Given the description of an element on the screen output the (x, y) to click on. 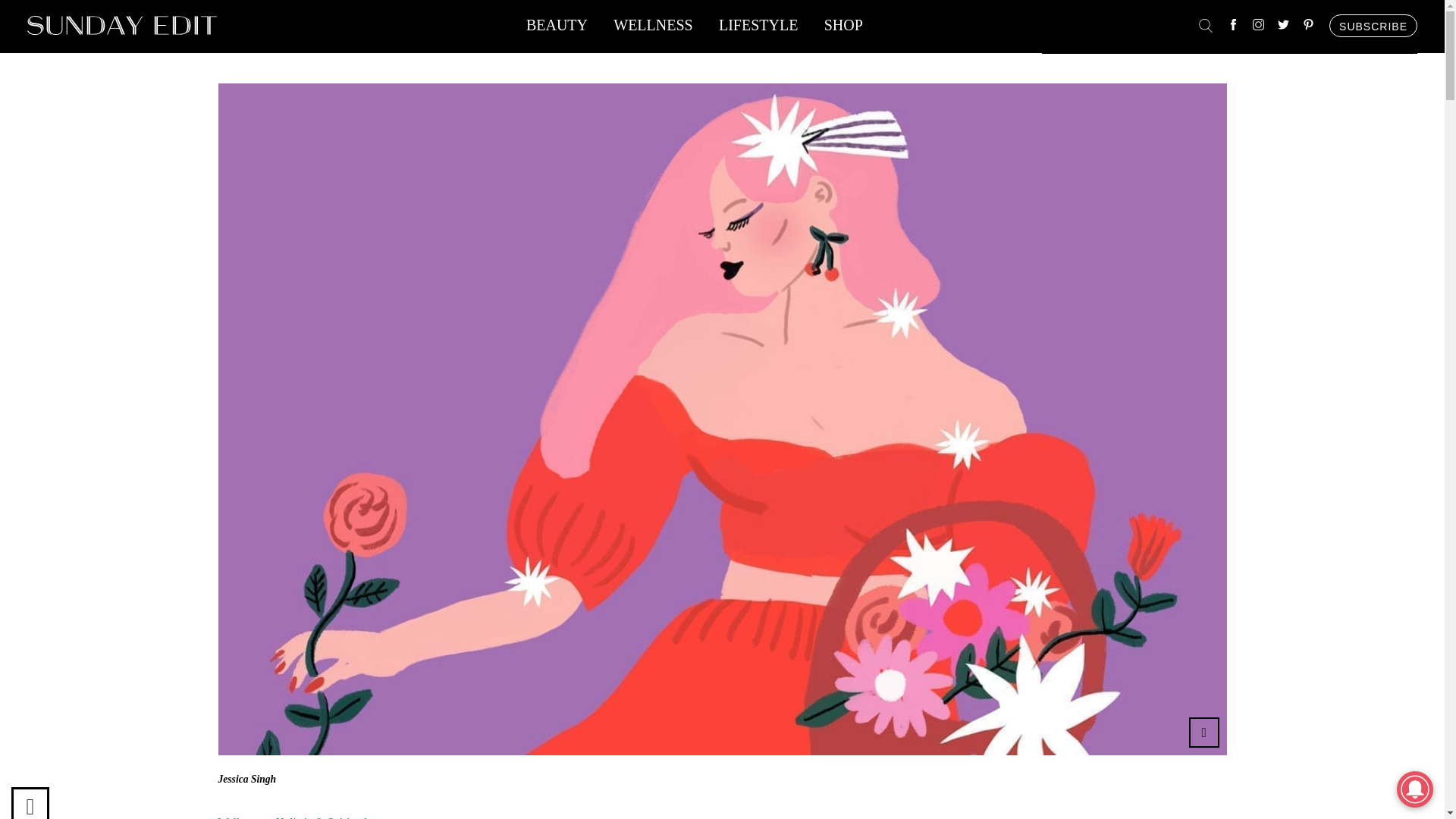
WELLNESS (652, 28)
LIFESTYLE (758, 28)
BEAUTY (556, 28)
Wellness (239, 816)
SUBSCRIBE (1372, 25)
